Given the description of an element on the screen output the (x, y) to click on. 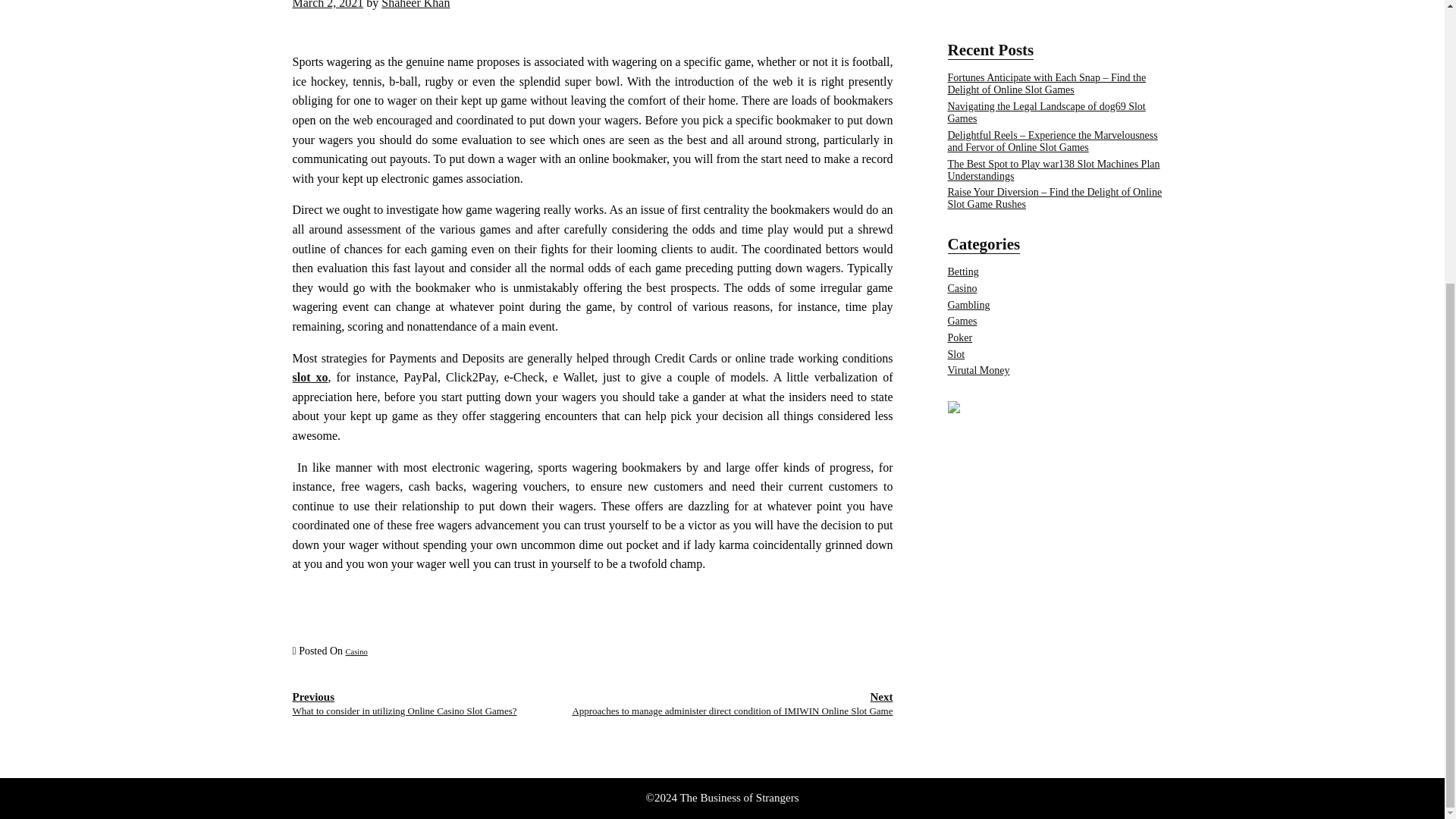
Casino (357, 651)
Shaheer Khan (415, 4)
Betting (962, 271)
slot xo (310, 377)
March 2, 2021 (328, 4)
Games (961, 320)
Slot (956, 354)
Poker (959, 337)
Virutal Money (978, 369)
Navigating the Legal Landscape of dog69 Slot Games (1046, 112)
Gambling (968, 305)
Casino (961, 288)
